Given the description of an element on the screen output the (x, y) to click on. 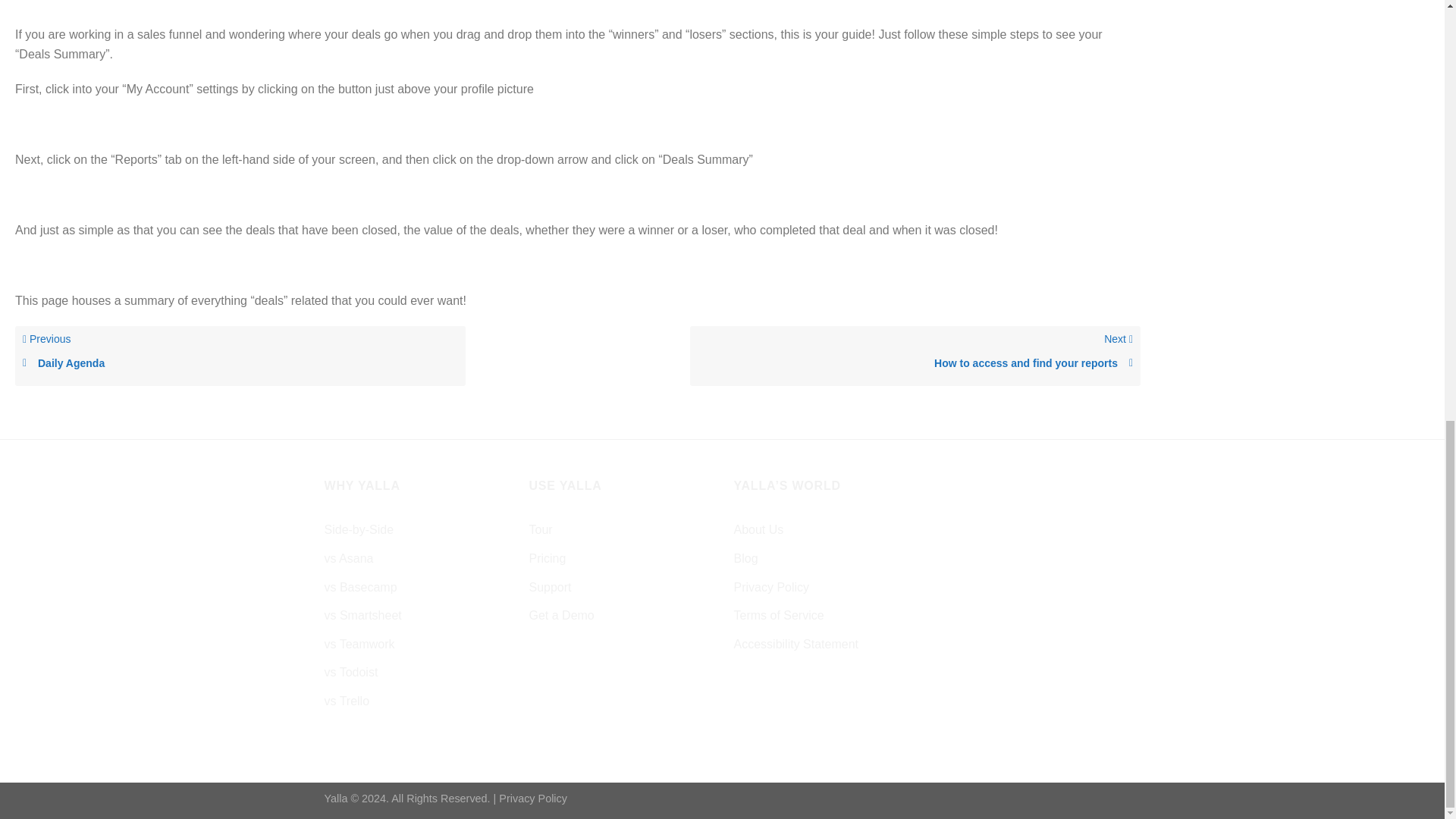
Side-by-Side (359, 529)
vs Teamwork (359, 644)
Pricing (239, 355)
Privacy Policy (547, 558)
vs Basecamp (533, 798)
How to access and find your reports (360, 587)
About Us (914, 363)
vs Todoist (758, 529)
Privacy Policy (351, 672)
